Given the description of an element on the screen output the (x, y) to click on. 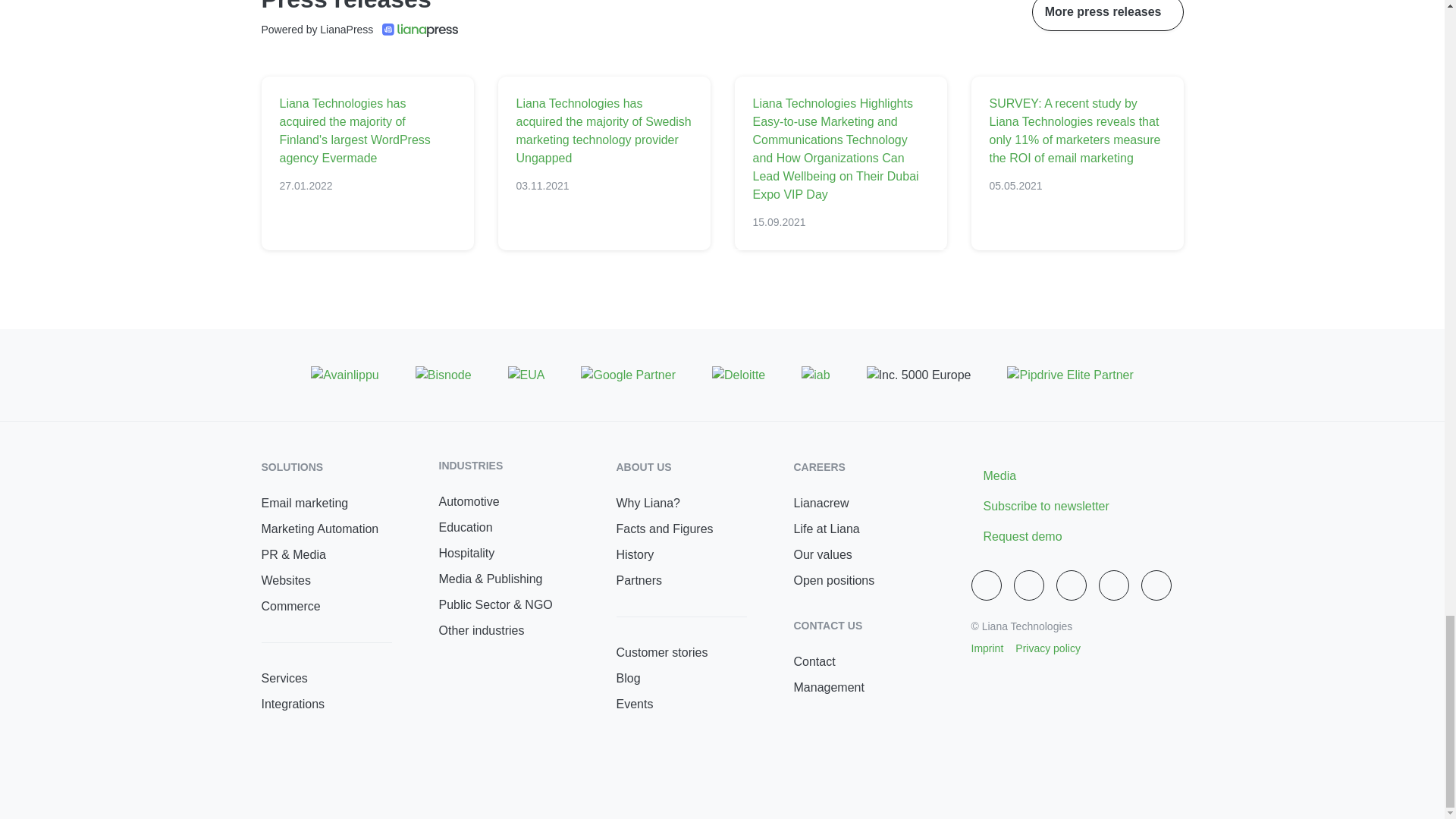
EUA (526, 374)
Pipedrive Elite Partner (1069, 374)
Bisnode (442, 374)
Google Partner (627, 374)
Deloitte (738, 374)
Avainlippu (344, 374)
iab (815, 374)
